Given the description of an element on the screen output the (x, y) to click on. 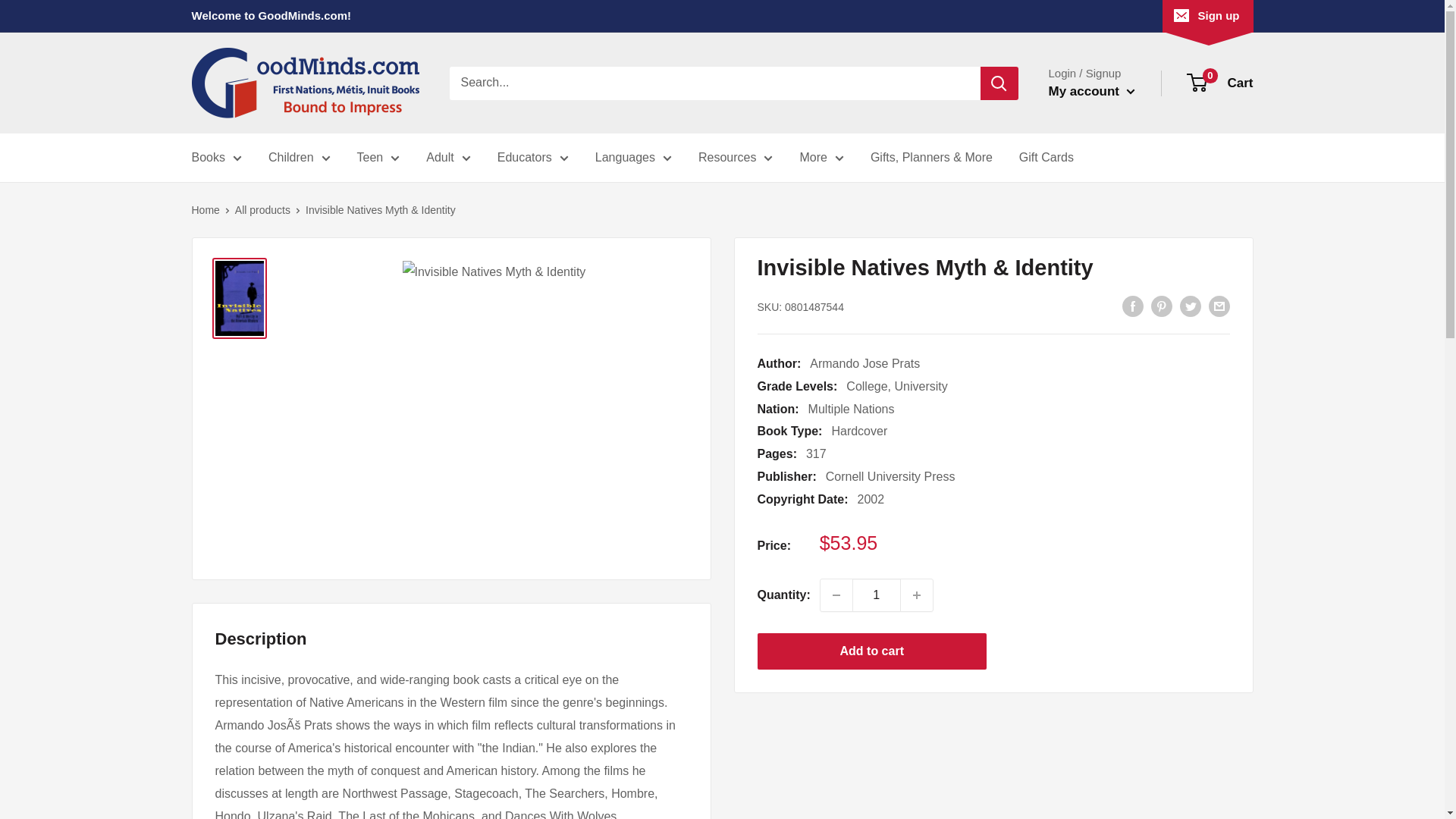
Sign up (1206, 15)
Decrease quantity by 1 (836, 594)
Increase quantity by 1 (917, 594)
1 (876, 594)
